Given the description of an element on the screen output the (x, y) to click on. 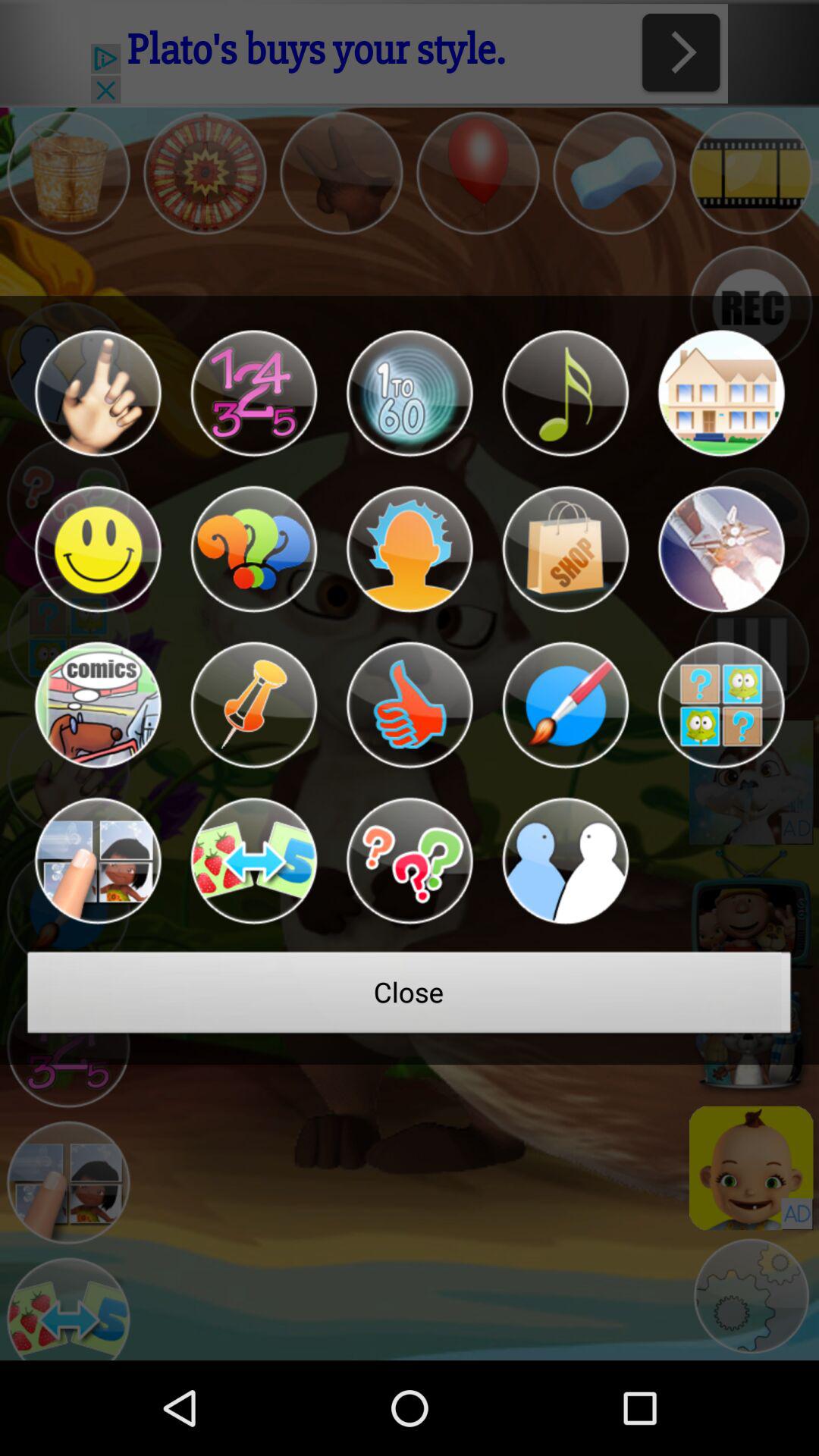
open app (565, 549)
